Given the description of an element on the screen output the (x, y) to click on. 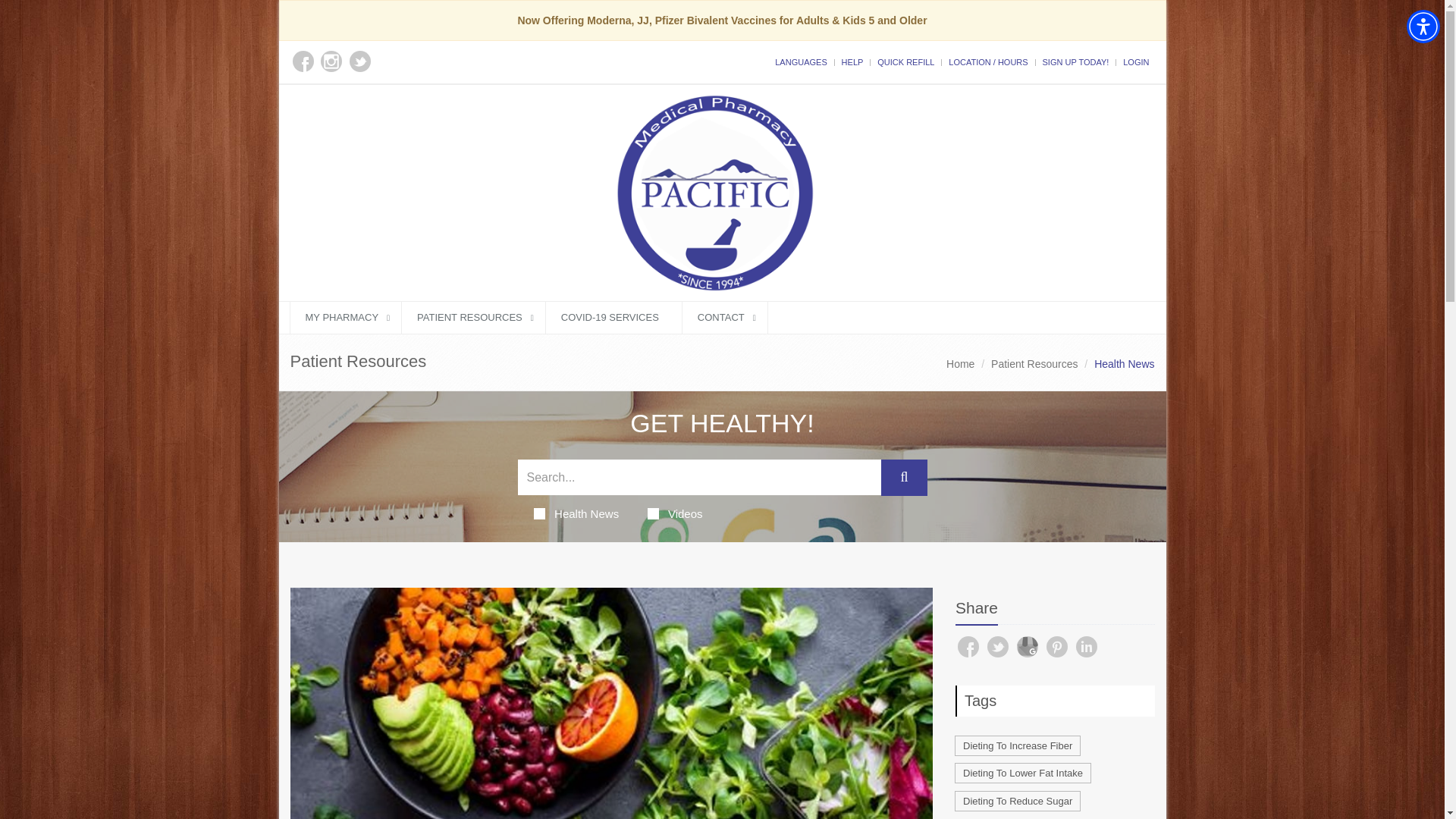
HELP (852, 61)
PATIENT RESOURCES (472, 317)
MY PHARMACY (345, 317)
CONTACT (724, 317)
LANGUAGES (800, 61)
COVID-19 SERVICES (613, 317)
